Given the description of an element on the screen output the (x, y) to click on. 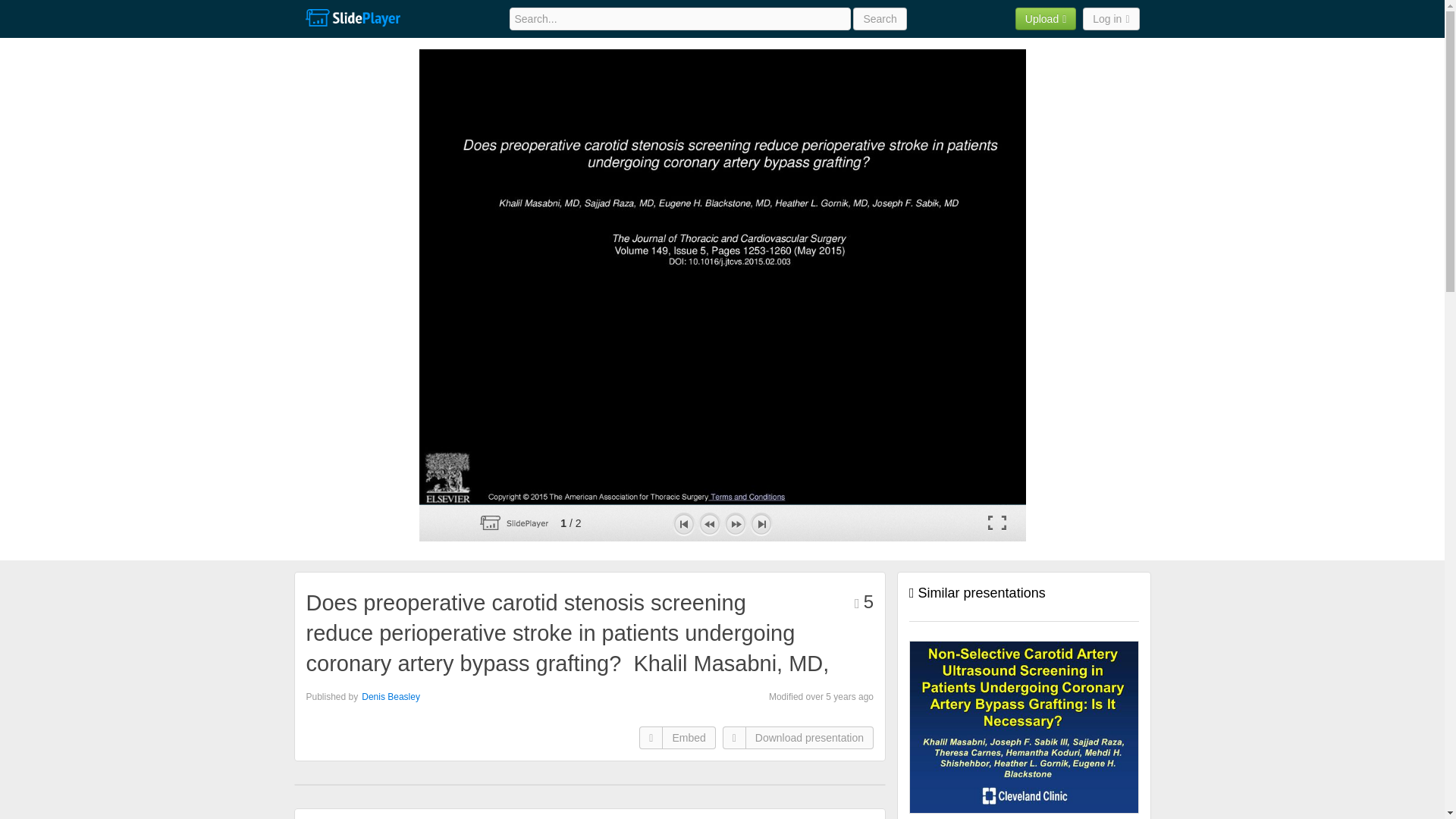
Log in (1110, 18)
Denis Beasley (390, 696)
SlidePlayer (352, 18)
Search (879, 18)
Upload (1045, 18)
